Given the description of an element on the screen output the (x, y) to click on. 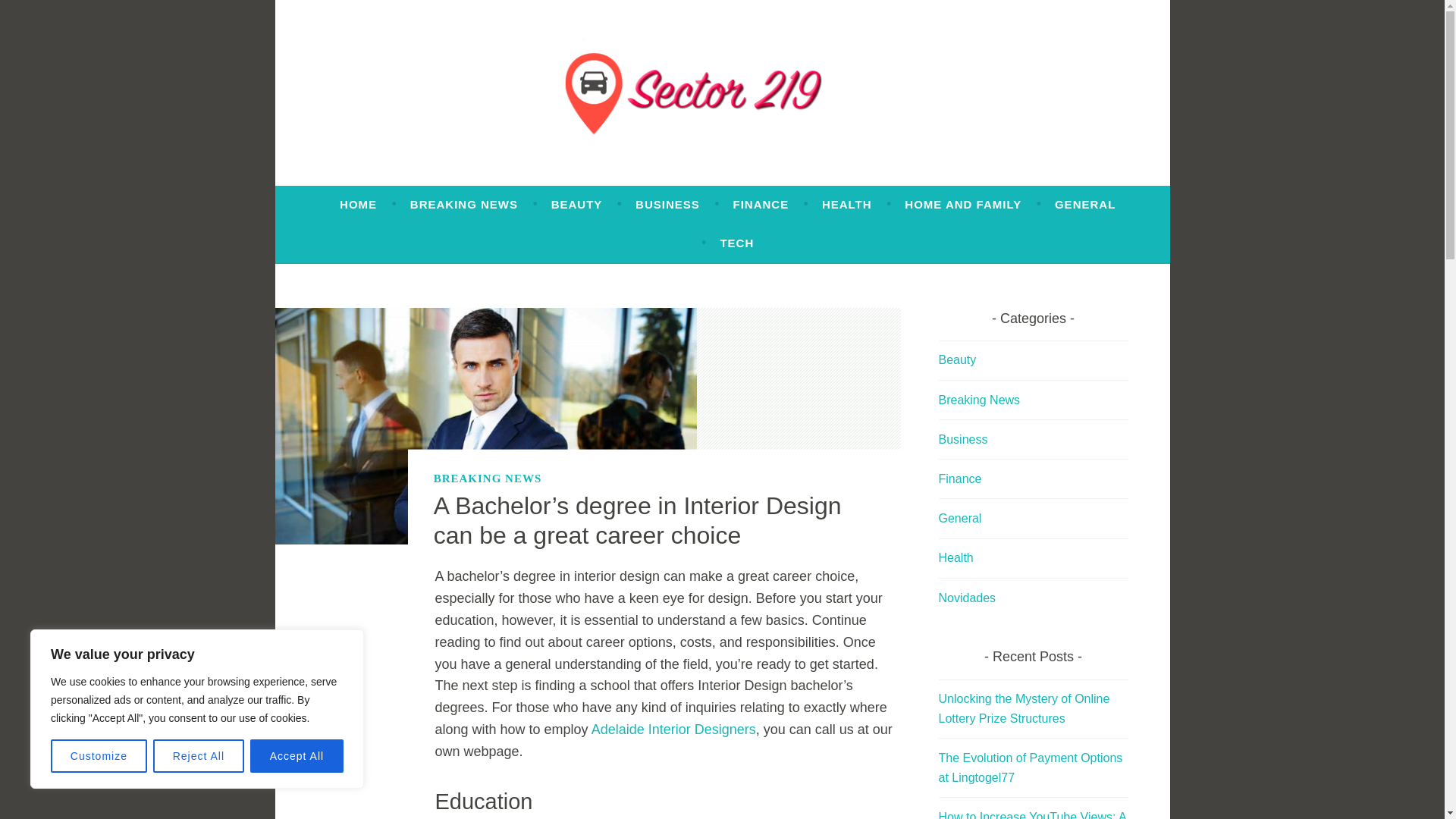
Reject All (198, 756)
BREAKING NEWS (464, 204)
Beauty (957, 359)
HEALTH (847, 204)
FINANCE (760, 204)
Sector 219 (393, 178)
BREAKING NEWS (487, 478)
BEAUTY (576, 204)
TECH (736, 243)
Accept All (296, 756)
Breaking News (979, 399)
GENERAL (1084, 204)
Adelaide Interior Designers (673, 729)
BUSINESS (667, 204)
HOME AND FAMILY (963, 204)
